Given the description of an element on the screen output the (x, y) to click on. 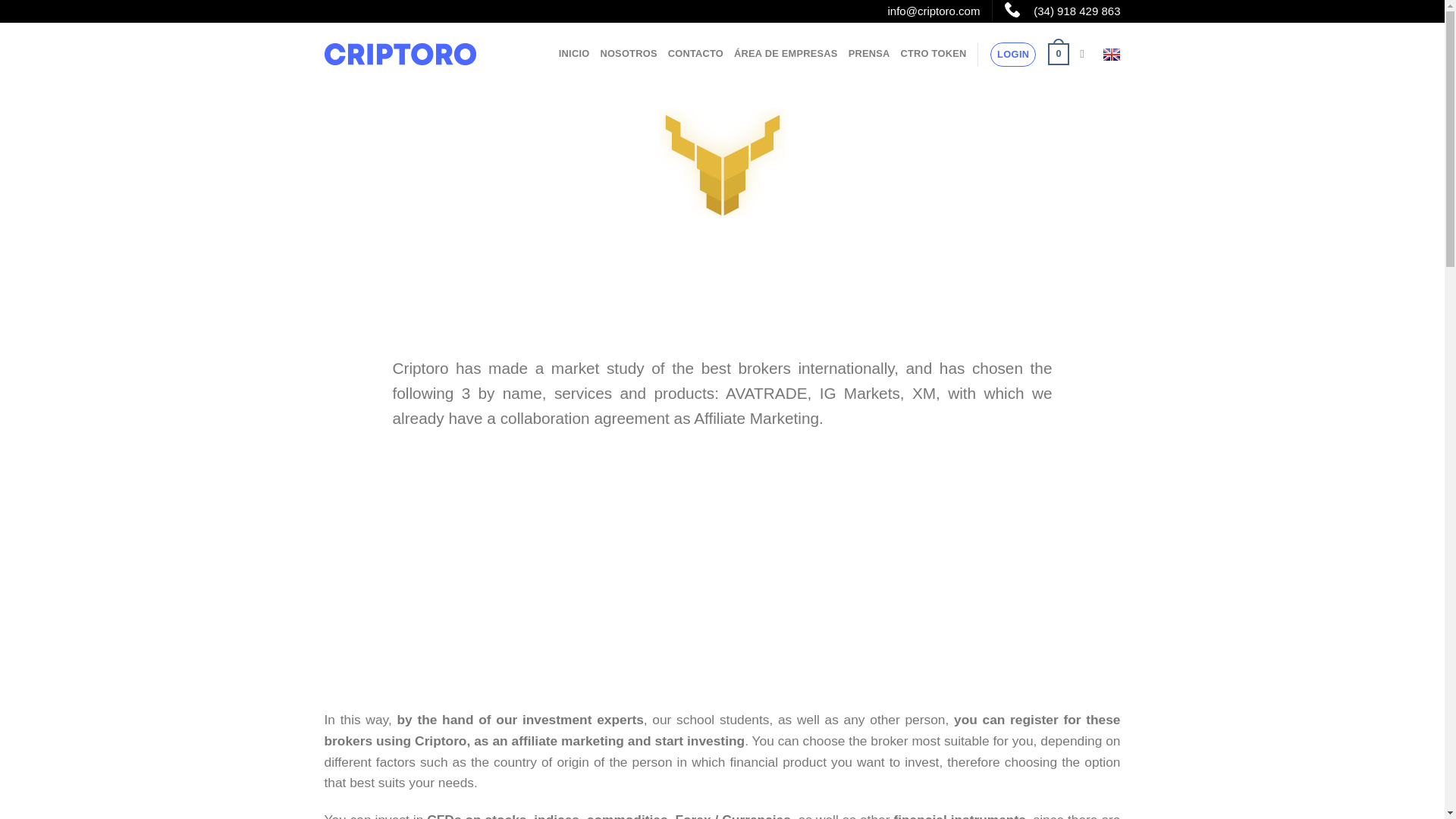
Criptoro - La criptomoneda del futuro (400, 54)
NOSOTROS (627, 53)
PRENSA (868, 53)
INICIO (574, 53)
CONTACTO (695, 53)
CTRO TOKEN (933, 53)
LOGIN (1012, 54)
